Given the description of an element on the screen output the (x, y) to click on. 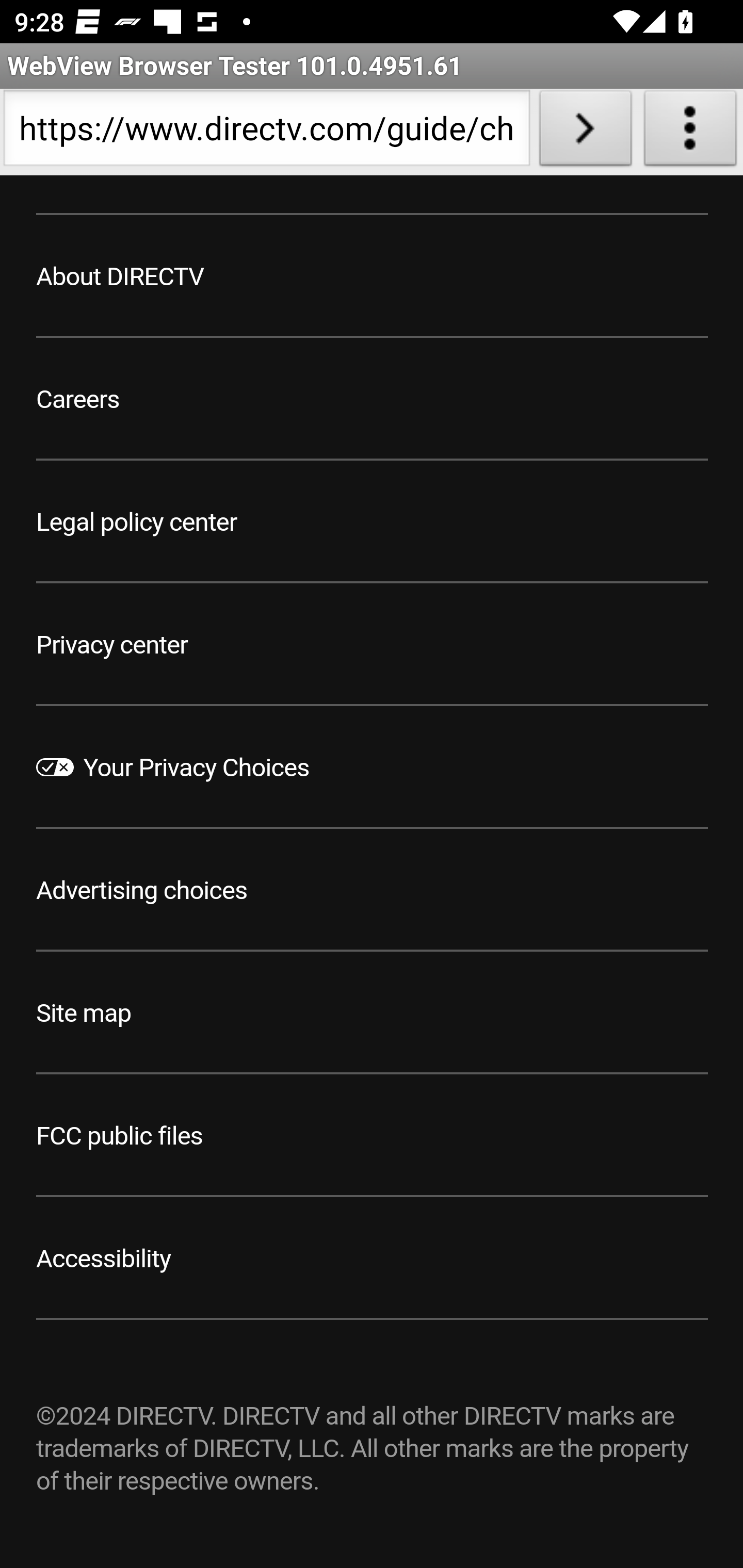
Load URL (585, 132)
About WebView (690, 132)
 About DIRECTV  About DIRECTV (120, 278)
 Careers  Careers (78, 400)
 Legal policy center  Legal policy center (137, 522)
 Privacy center  Privacy center (112, 646)
Your Privacy Choices (196, 769)
 Advertising choices  Advertising choices (142, 891)
 Site map  Site map (83, 1015)
 FCC public files  FCC public files (119, 1137)
Accessibility (103, 1259)
